Given the description of an element on the screen output the (x, y) to click on. 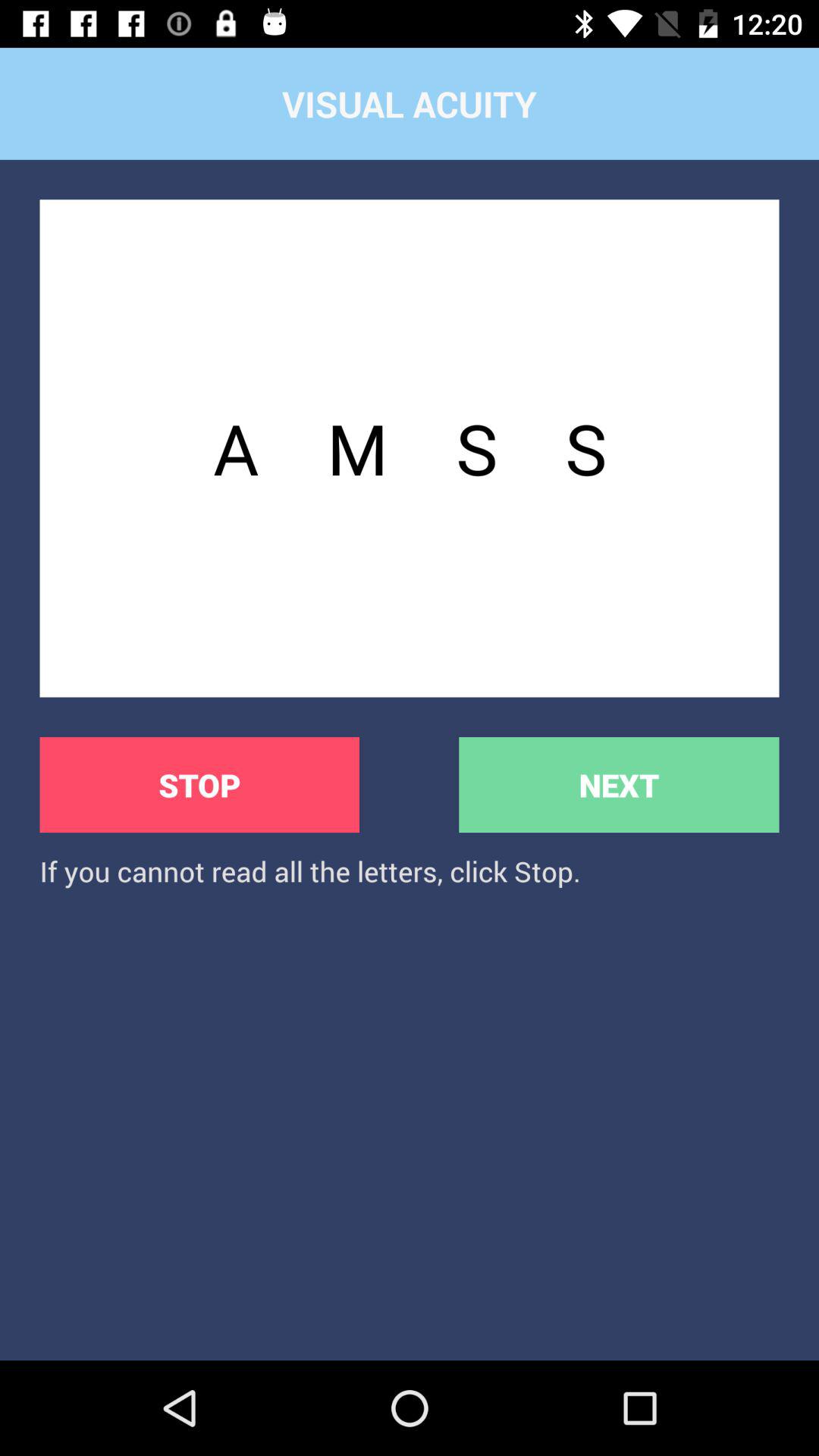
tap the app below a m s (618, 784)
